Given the description of an element on the screen output the (x, y) to click on. 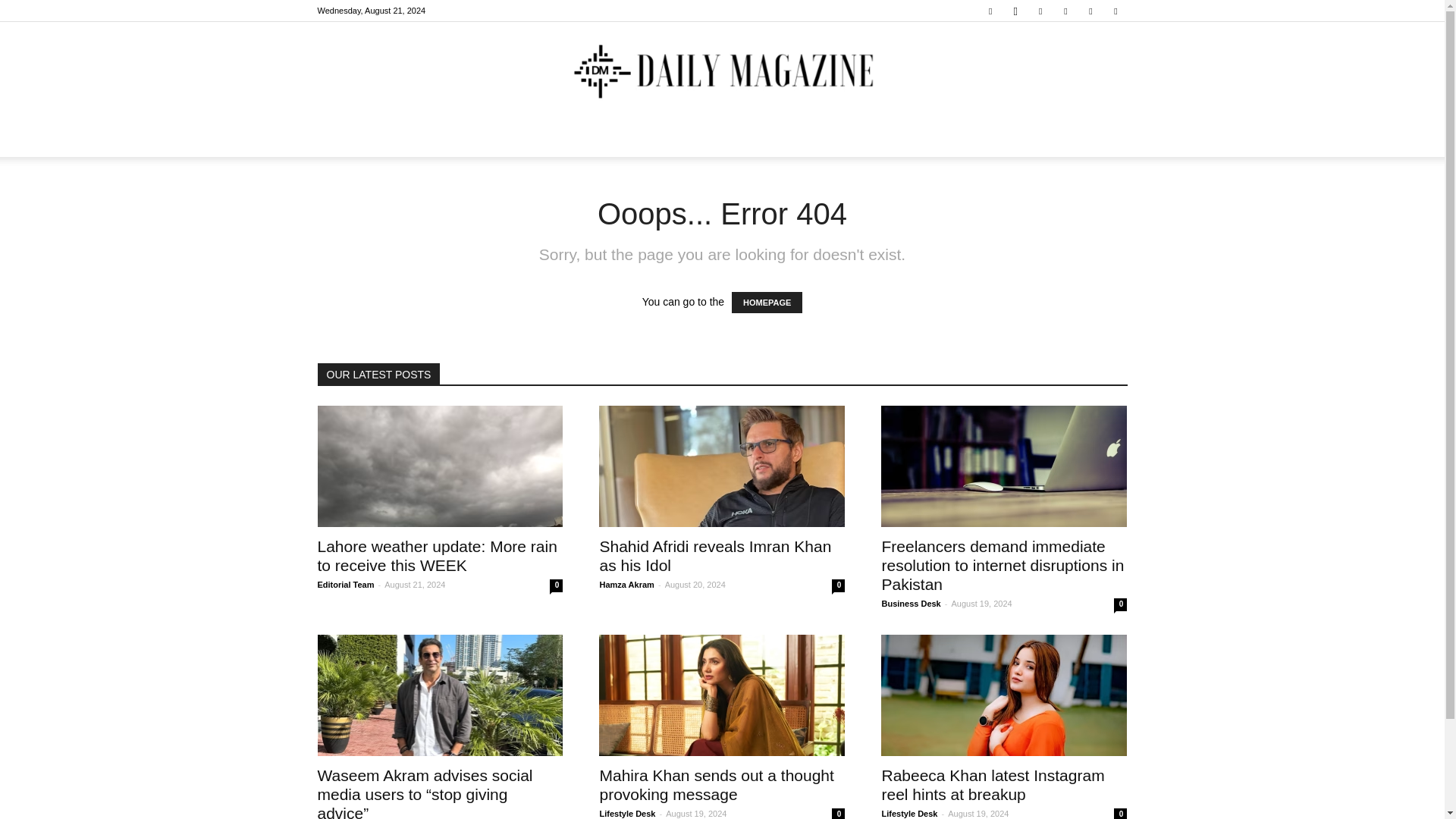
Twitter (1090, 10)
Youtube (1114, 10)
Latest News, Pakistan News, Breaking News (721, 71)
Lahore weather update: More rain to receive this WEEK (439, 466)
RSS (1065, 10)
Facebook (989, 10)
Instagram (1015, 10)
Linkedin (1040, 10)
